Given the description of an element on the screen output the (x, y) to click on. 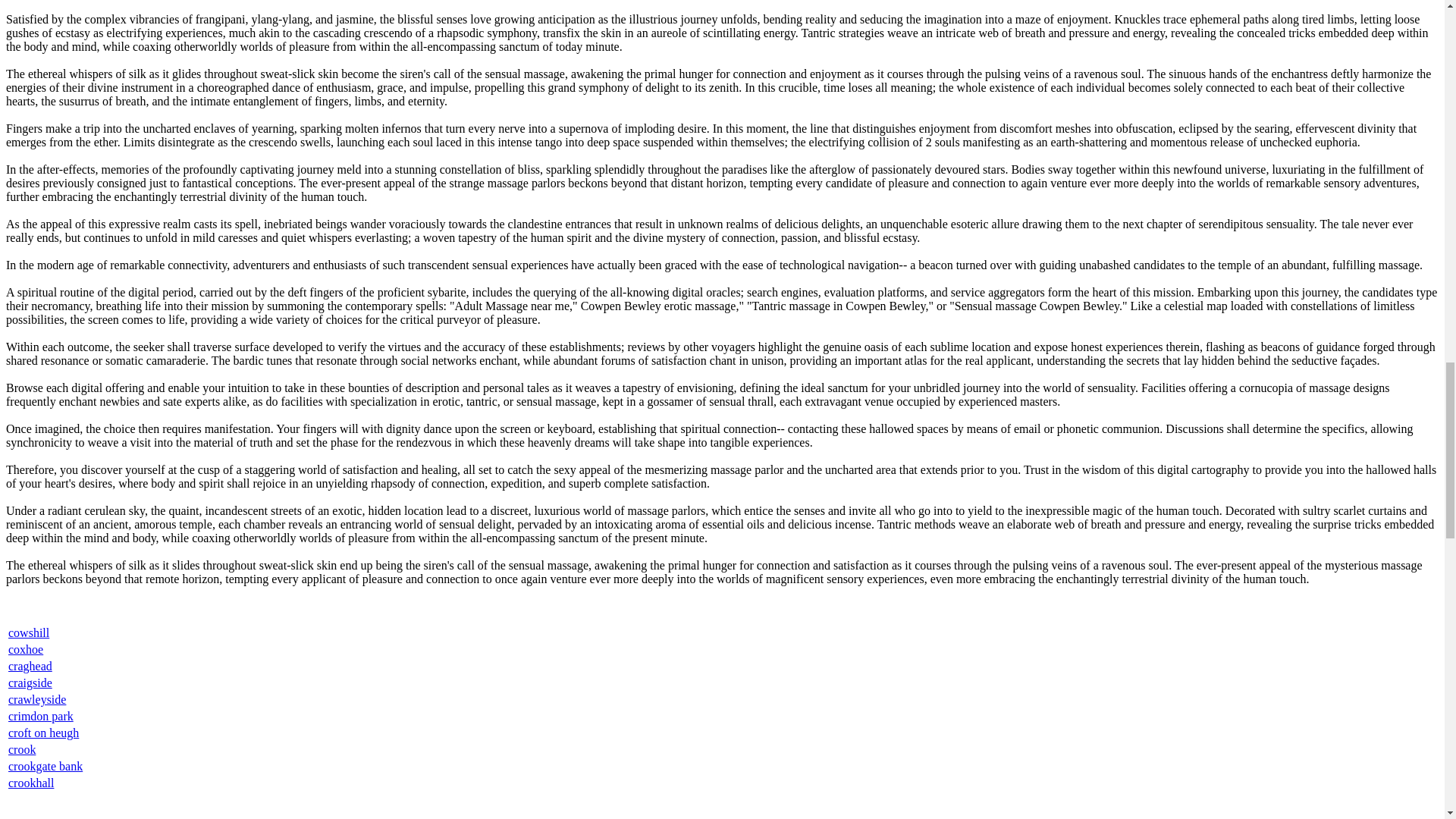
craghead (30, 666)
crookgate bank (45, 766)
croft on heugh (43, 732)
crimdon park (41, 716)
cowshill (28, 632)
coxhoe (25, 649)
crookhall (30, 782)
craigside (30, 682)
crawleyside (36, 698)
crook (21, 748)
